Given the description of an element on the screen output the (x, y) to click on. 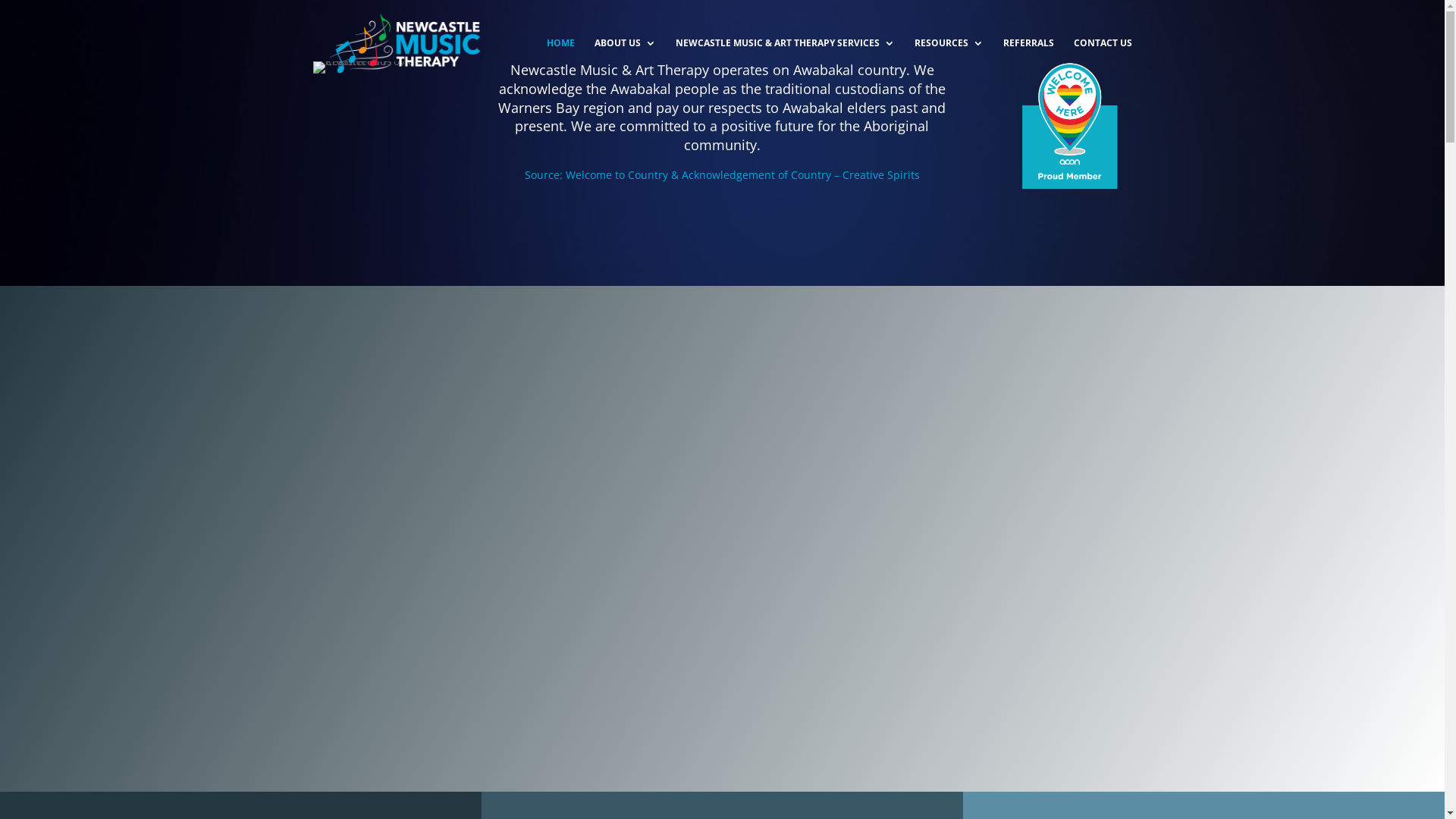
CONTACT US Element type: text (1102, 61)
About Us | Newcastle Music & Art Therapy Element type: hover (721, 536)
creative+kids+logo Element type: hover (375, 67)
ABOUT US Element type: text (624, 61)
HOME Element type: text (560, 61)
WH_membership_badge_2020 Element type: hover (1067, 124)
REFERRALS Element type: text (1027, 61)
RESOURCES Element type: text (948, 61)
NEWCASTLE MUSIC & ART THERAPY SERVICES Element type: text (784, 61)
